Given the description of an element on the screen output the (x, y) to click on. 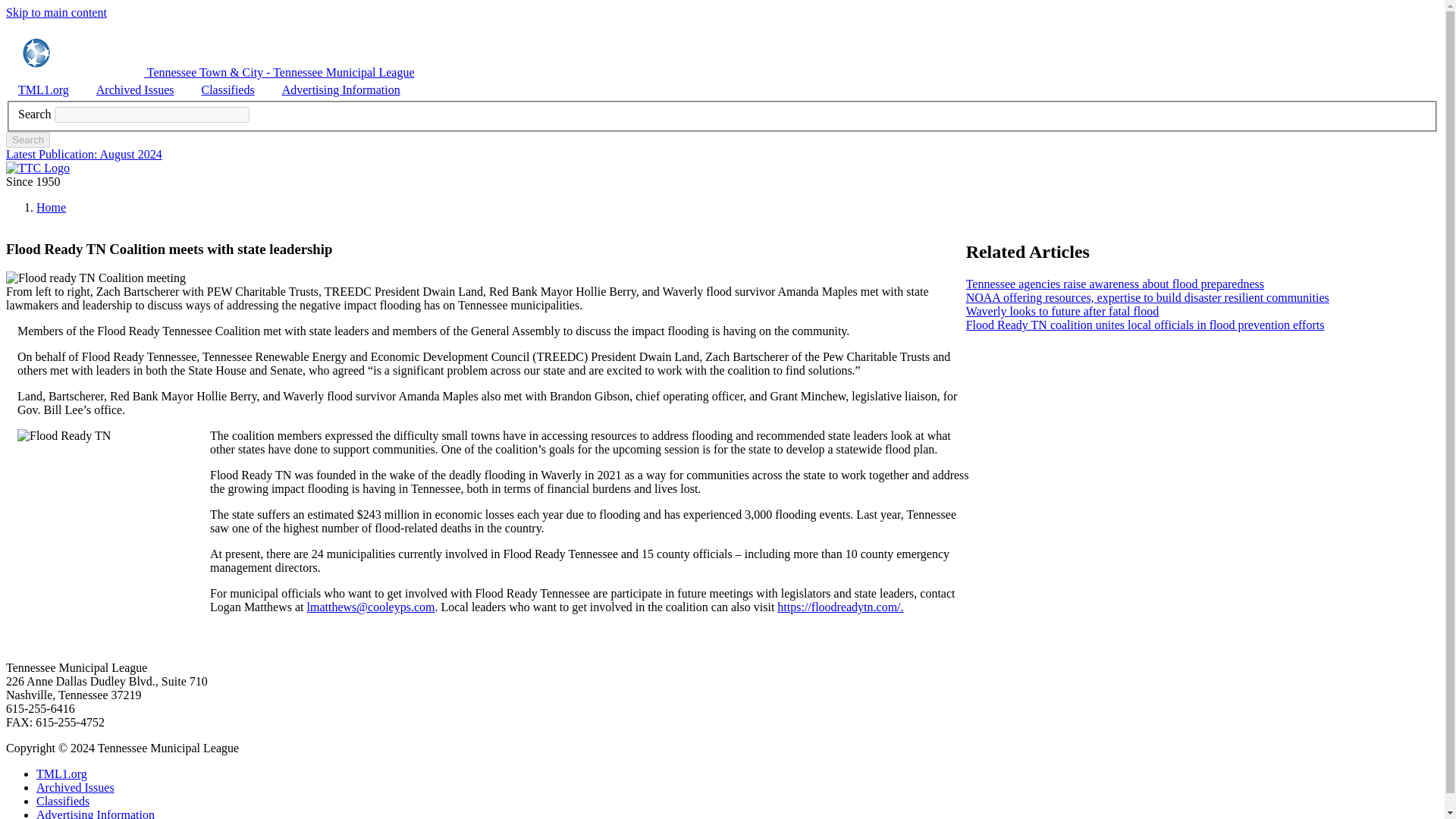
Archived Issues (75, 787)
Archived Issues (135, 89)
Classifieds (227, 89)
Classifieds (62, 800)
TML1.org (43, 89)
Skip to main content (55, 11)
Home (209, 72)
Search (27, 139)
